Given the description of an element on the screen output the (x, y) to click on. 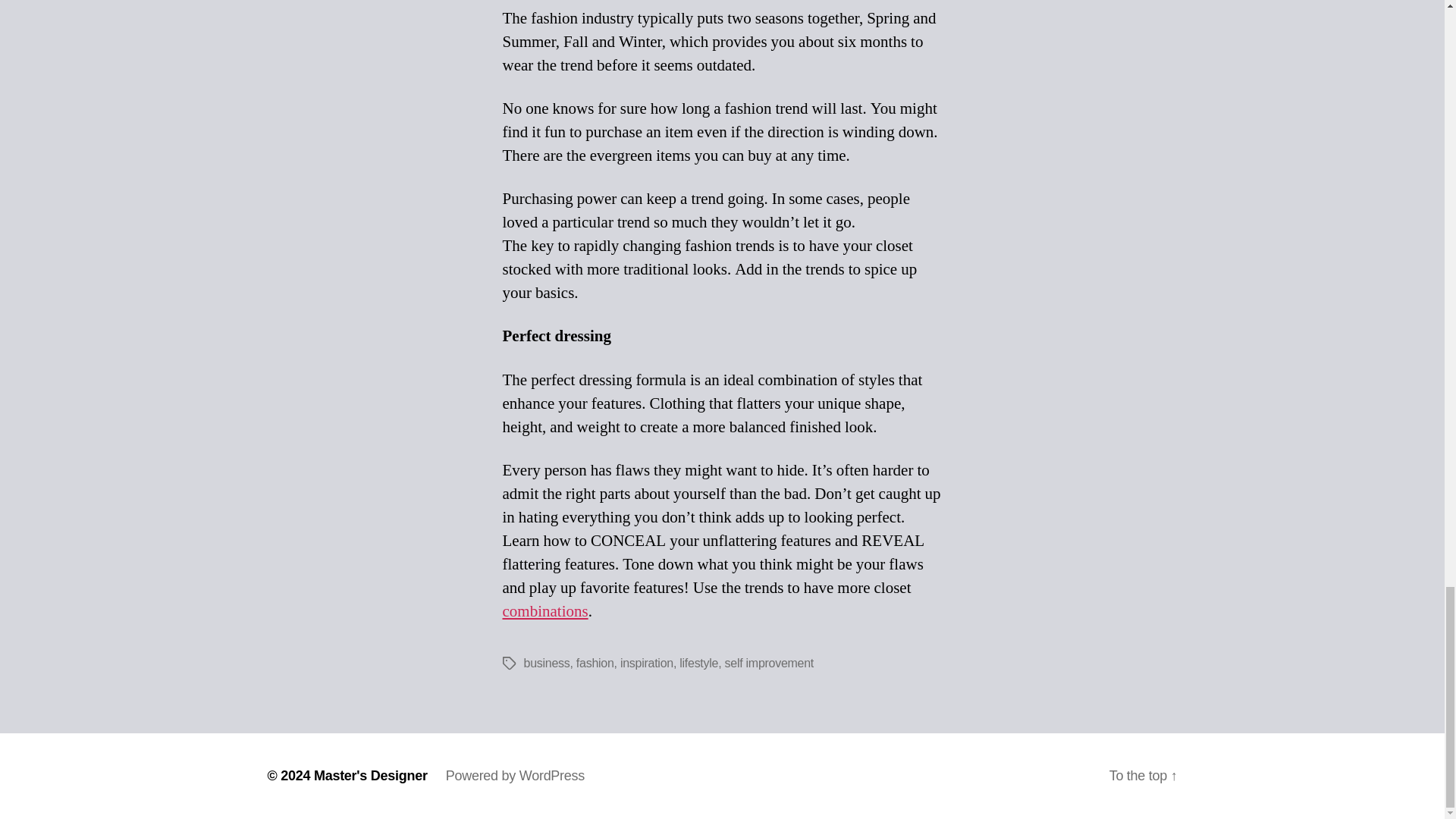
inspiration (646, 662)
Master's Designer (371, 775)
self improvement (769, 662)
business (545, 662)
Powered by WordPress (515, 775)
fashion (595, 662)
lifestyle (698, 662)
combinations (545, 611)
